Given the description of an element on the screen output the (x, y) to click on. 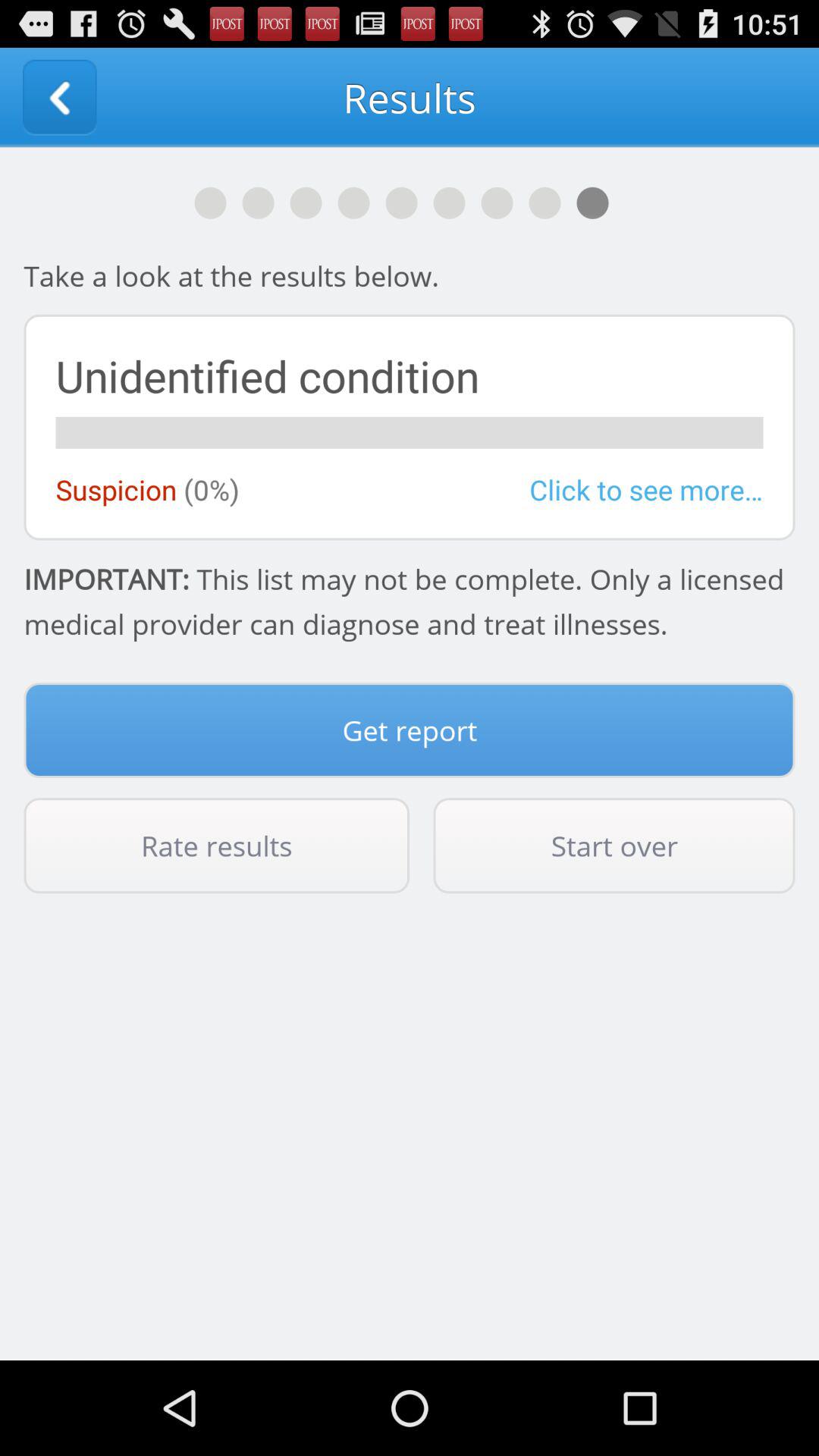
press the button to the left of the start over item (216, 845)
